Given the description of an element on the screen output the (x, y) to click on. 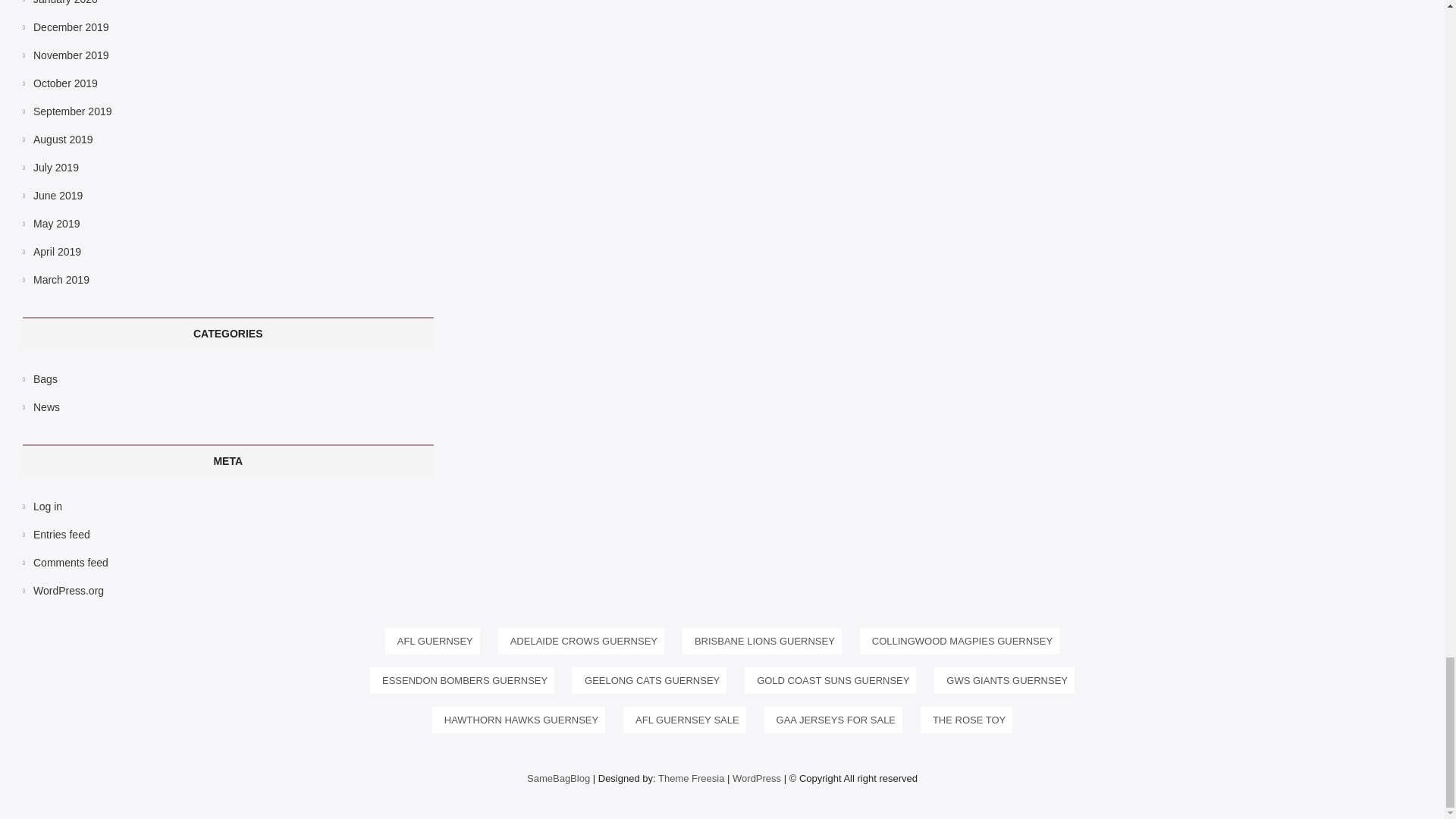
Theme Freesia (690, 778)
SameBagBlog (558, 778)
WordPress (756, 778)
